Given the description of an element on the screen output the (x, y) to click on. 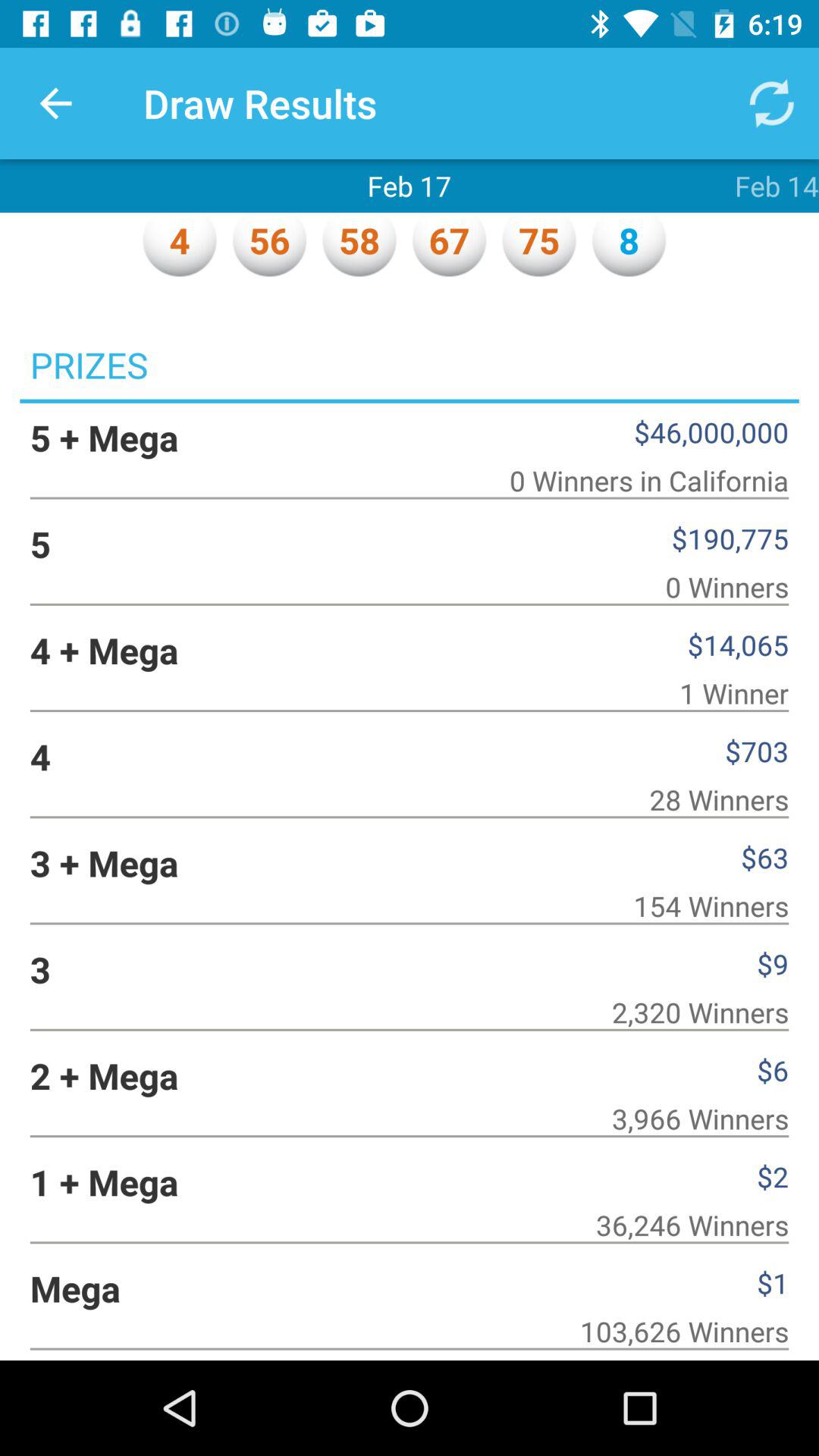
turn off item to the left of draw results (55, 103)
